Given the description of an element on the screen output the (x, y) to click on. 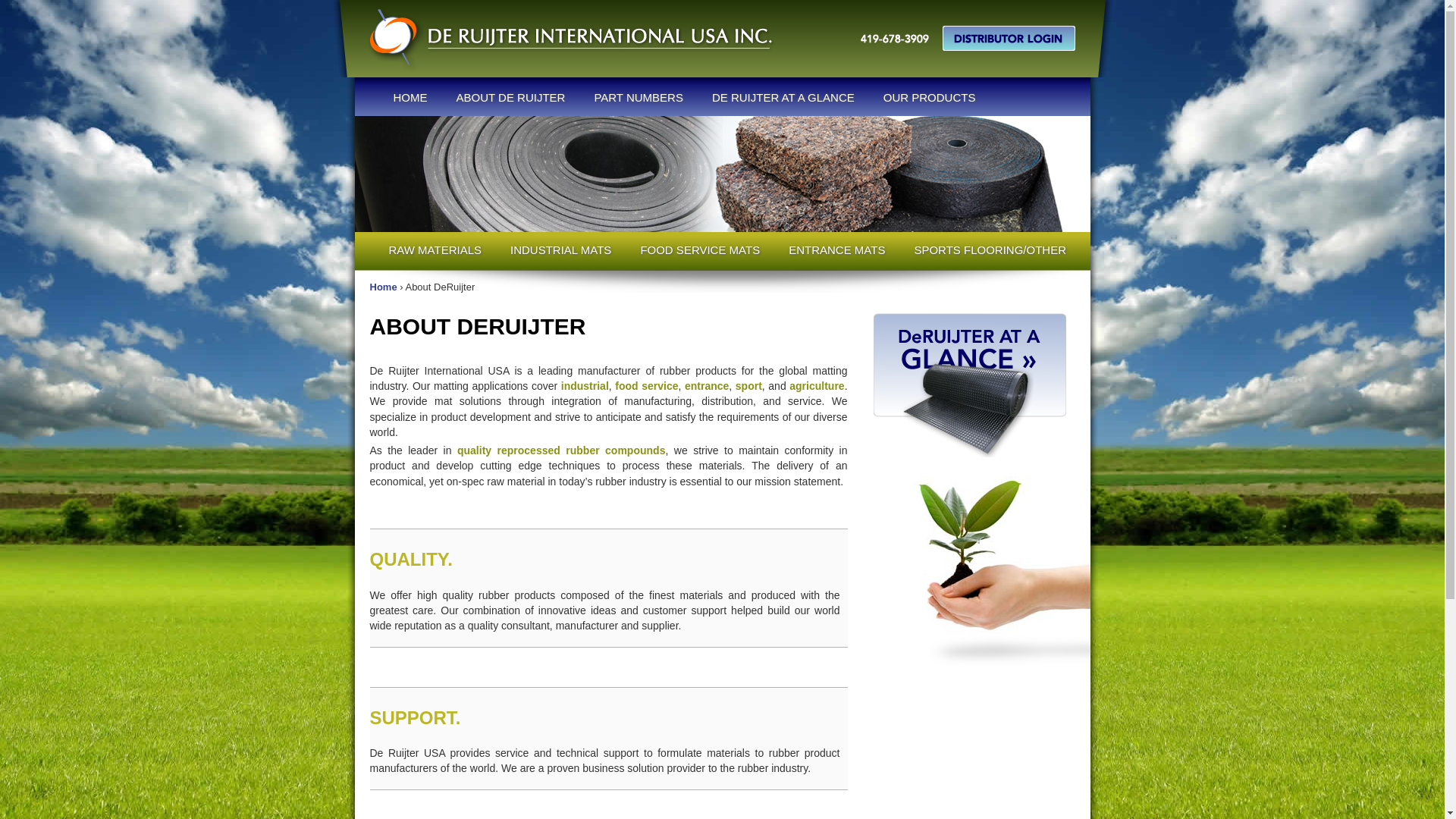
Home (383, 286)
RAW MATERIALS (435, 249)
ABOUT DE RUIJTER (510, 97)
PART NUMBERS (638, 97)
About Us (722, 173)
CONTACT US (429, 149)
FOOD SERVICE MATS (700, 249)
ENTRANCE MATS (836, 249)
HOME (410, 97)
OUR PRODUCTS (929, 97)
DE RUIJTER AT A GLANCE (783, 97)
INDUSTRIAL MATS (561, 249)
